Given the description of an element on the screen output the (x, y) to click on. 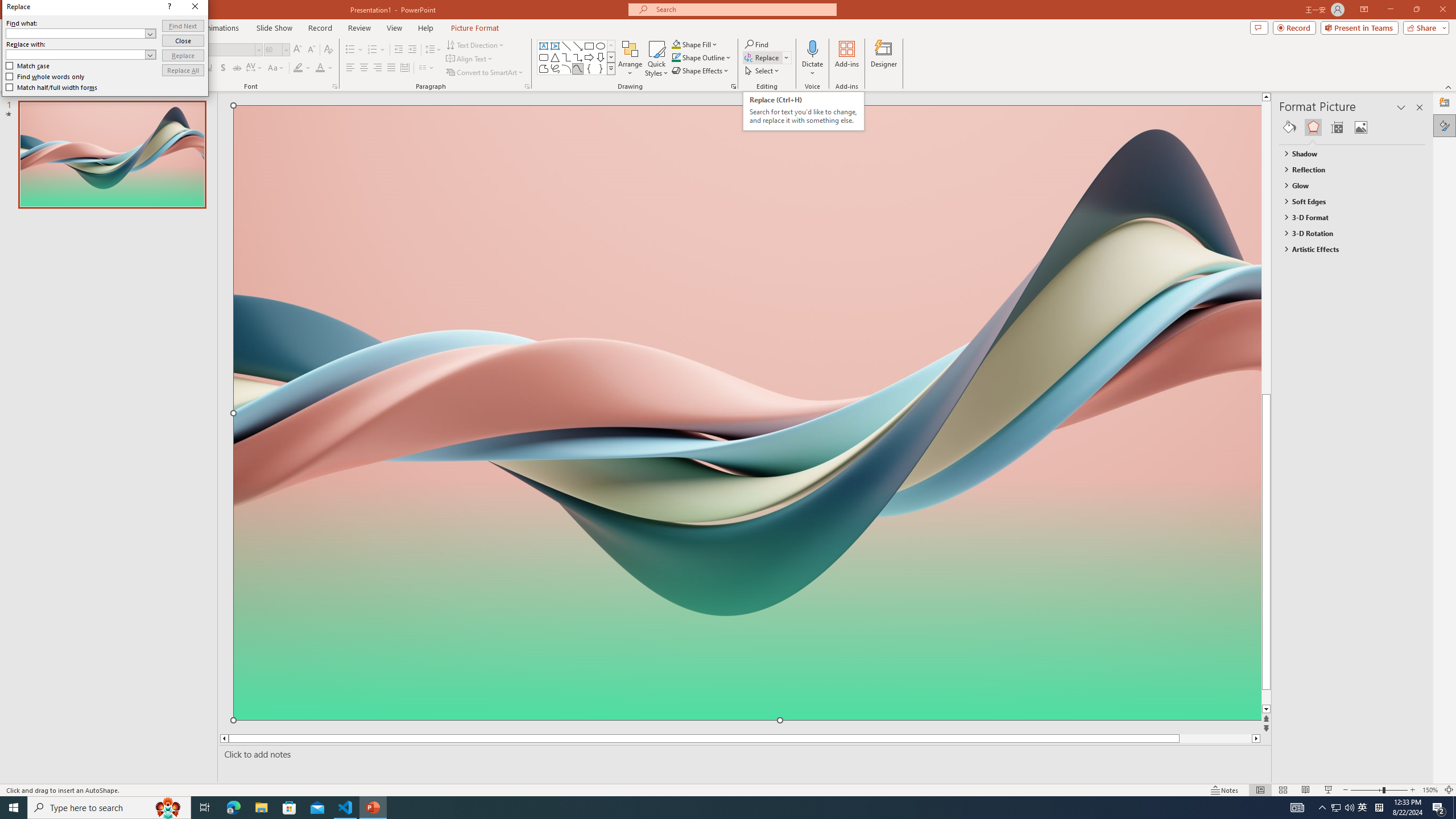
Format Object... (733, 85)
Class: NetUIGalleryContainer (1352, 126)
Decorative Locked (747, 579)
Action Center, 2 new notifications (1439, 807)
Notification Chevron (1322, 807)
Picture (1361, 126)
Increase Indent (412, 49)
Zoom Out (1367, 790)
